Given the description of an element on the screen output the (x, y) to click on. 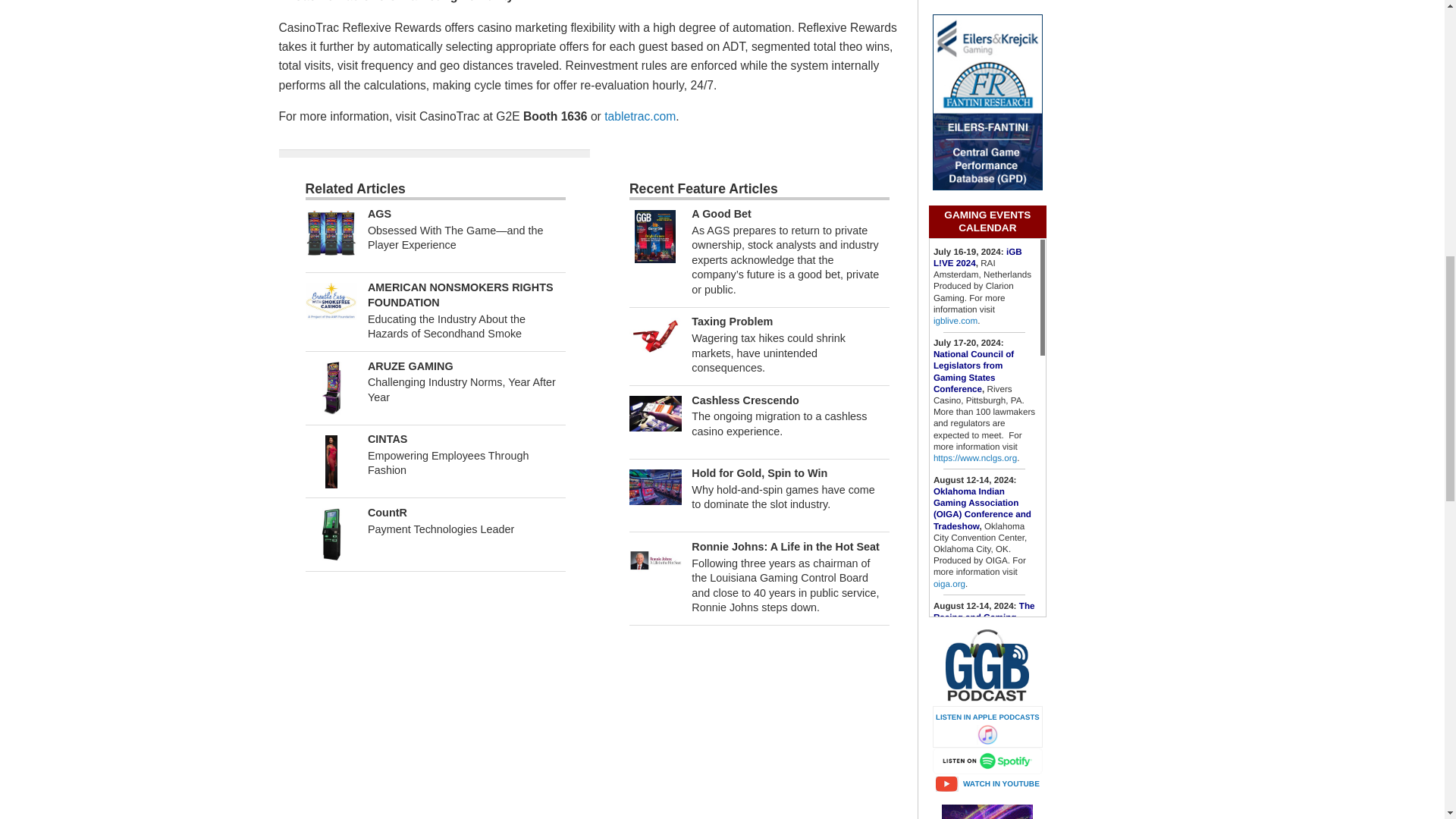
AMERICAN NONSMOKERS RIGHTS FOUNDATION (460, 294)
AGS (379, 214)
ARUZE GAMING (330, 387)
AMERICAN NONSMOKERS RIGHTS FOUNDATION (330, 300)
ARUZE GAMING (410, 366)
AGS (330, 232)
